Given the description of an element on the screen output the (x, y) to click on. 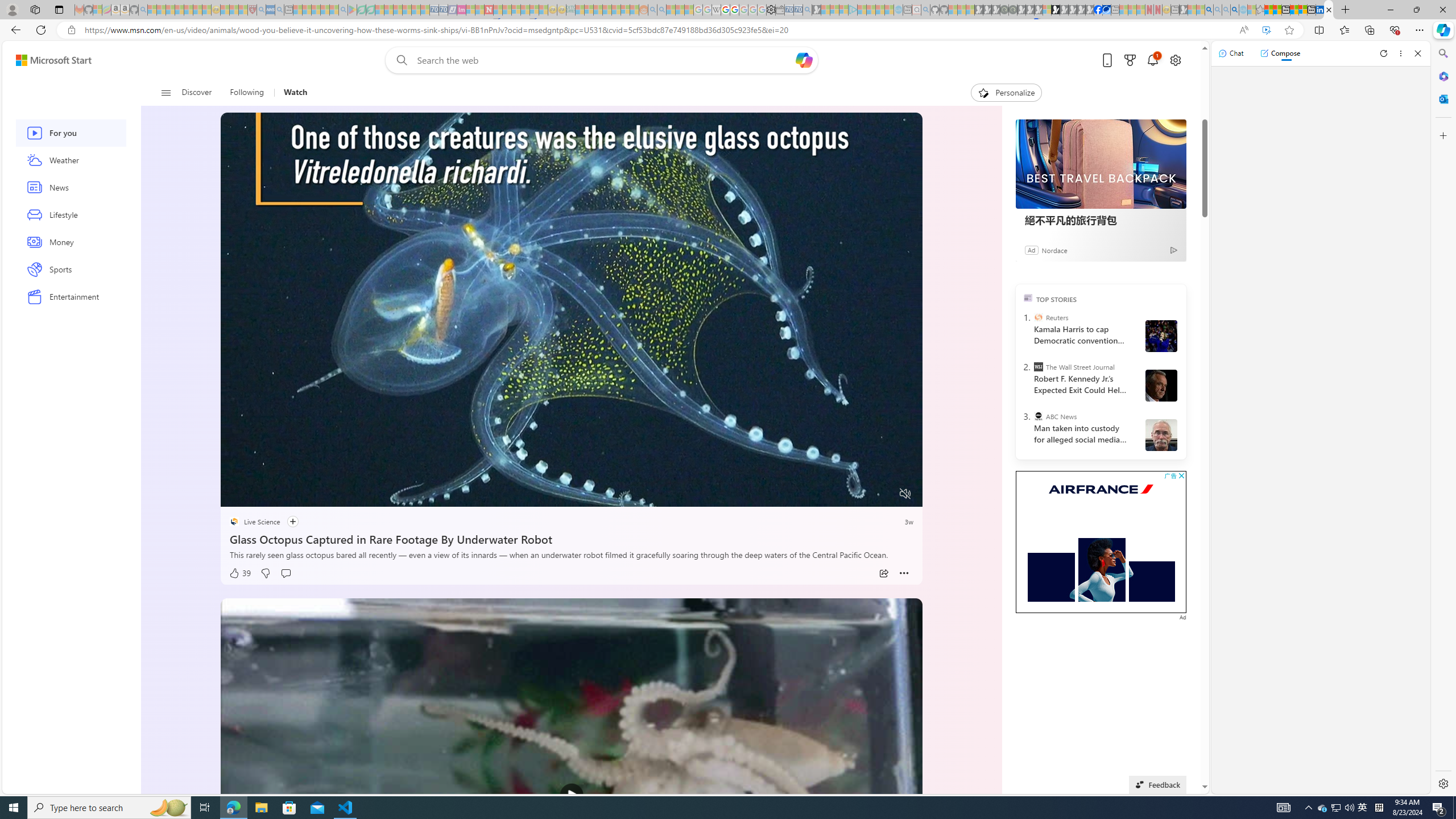
DITOGAMES AG Imprint - Sleeping (570, 9)
Bluey: Let's Play! - Apps on Google Play - Sleeping (352, 9)
Personalize (1006, 92)
Web search (398, 60)
Class: button-glyph (165, 92)
Bing AI - Search (1208, 9)
